Given the description of an element on the screen output the (x, y) to click on. 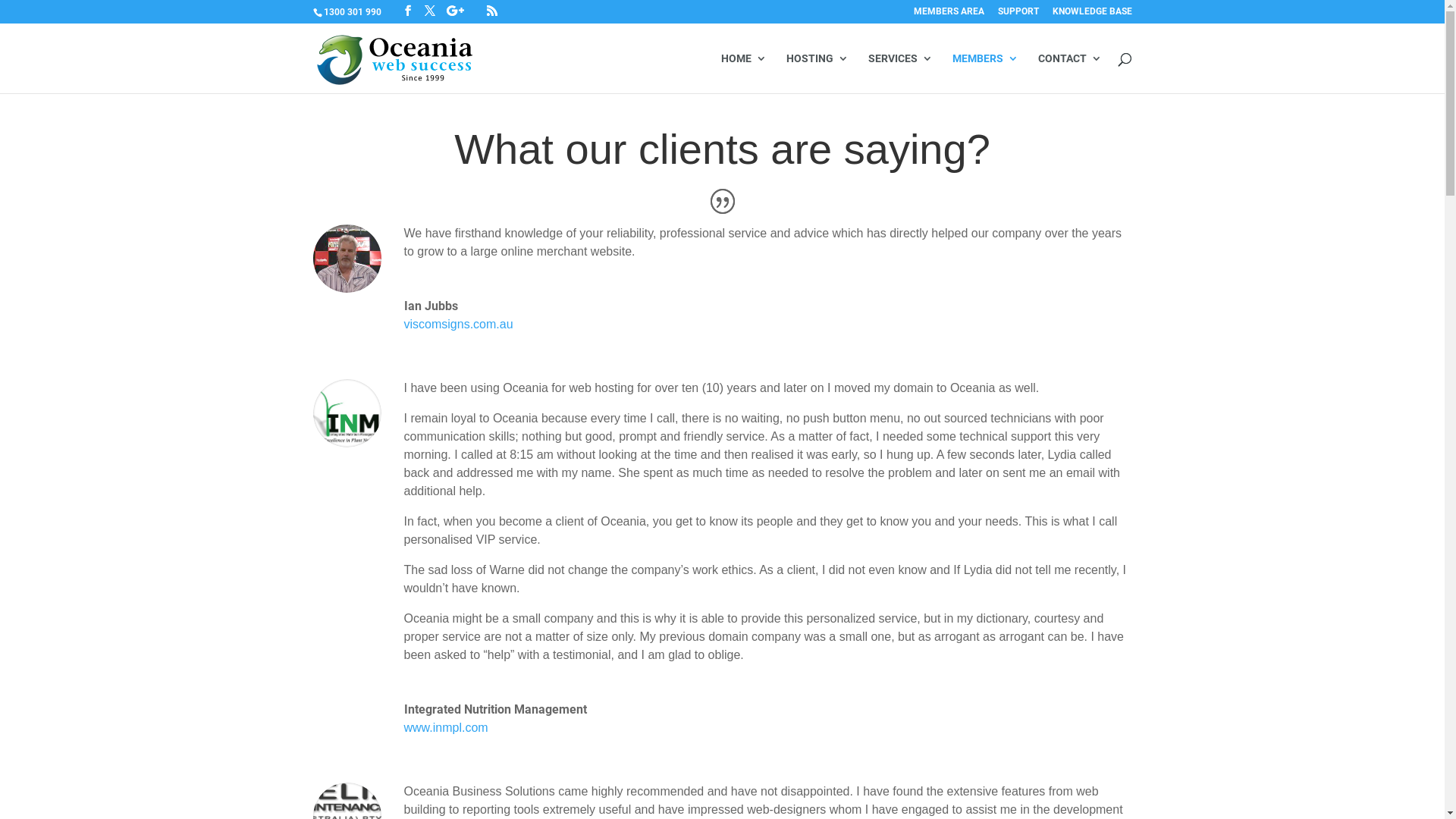
MEMBERS AREA Element type: text (948, 14)
SUPPORT Element type: text (1017, 14)
www.inmpl.com Element type: text (445, 727)
HOME Element type: text (742, 73)
KNOWLEDGE BASE Element type: text (1092, 14)
viscomsigns.com.au Element type: text (457, 323)
MEMBERS Element type: text (985, 73)
HOSTING Element type: text (816, 73)
SERVICES Element type: text (899, 73)
CONTACT Element type: text (1069, 73)
